Given the description of an element on the screen output the (x, y) to click on. 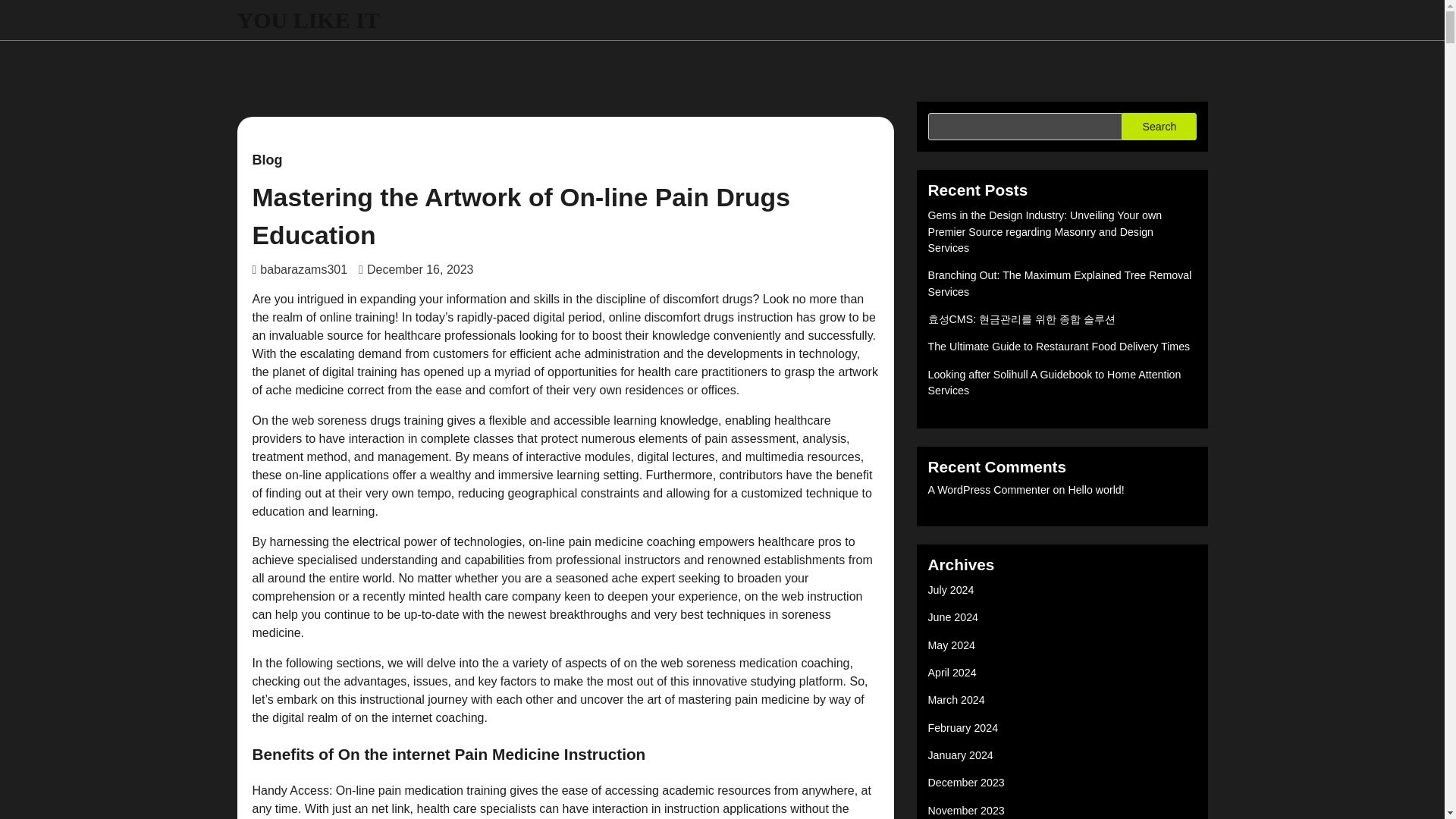
April 2024 (952, 672)
Blog (266, 160)
YOU LIKE IT (306, 19)
December 2023 (966, 782)
January 2024 (960, 755)
December 16, 2023 (415, 269)
March 2024 (956, 699)
Hello world! (1095, 490)
Search (1158, 126)
A WordPress Commenter (988, 490)
May 2024 (951, 645)
February 2024 (963, 727)
November 2023 (966, 810)
Branching Out: The Maximum Explained Tree Removal Services (1060, 283)
